Given the description of an element on the screen output the (x, y) to click on. 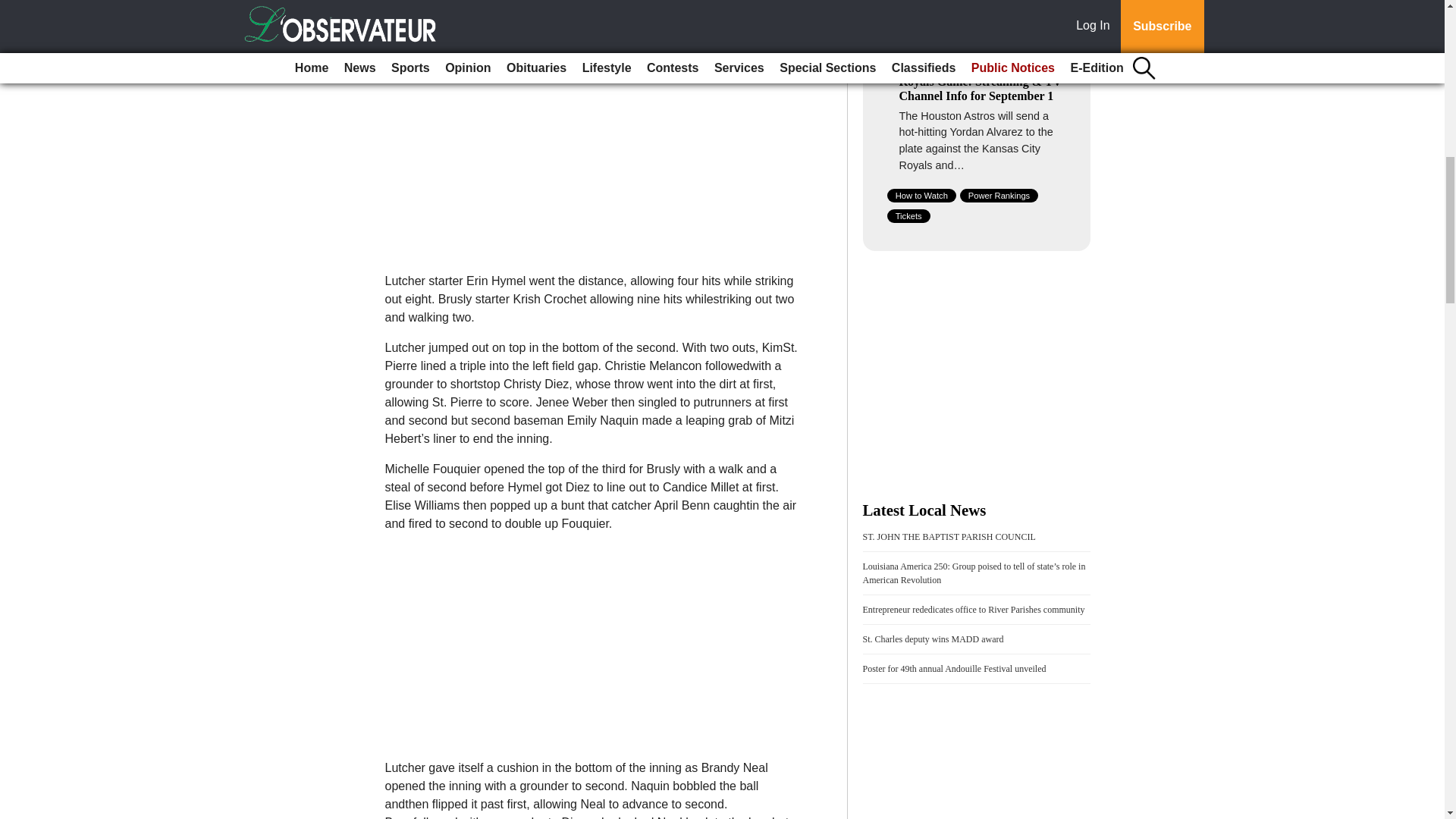
Power Rankings (999, 195)
Entrepreneur rededicates office to River Parishes community (973, 609)
How to Watch (921, 195)
ST. JOHN THE BAPTIST PARISH COUNCIL (949, 536)
Tickets (908, 215)
